Given the description of an element on the screen output the (x, y) to click on. 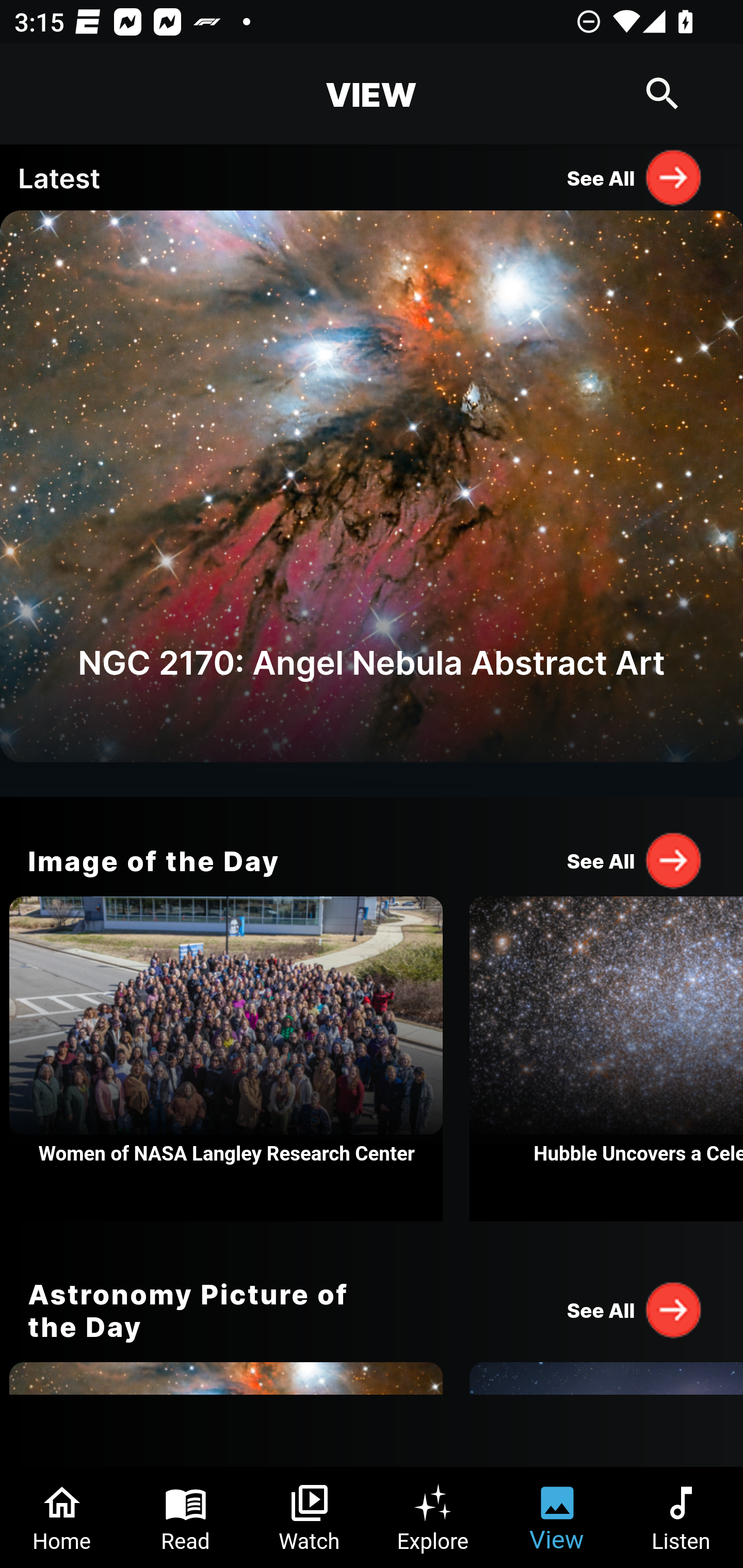
See All (634, 177)
NGC 2170: Angel Nebula Abstract Art
Hello World (371, 503)
See All (634, 860)
Women of NASA Langley Research Center (225, 1058)
Hubble Uncovers a Celestial Fossil (606, 1058)
See All (634, 1309)
Home
Tab 1 of 6 (62, 1517)
Read
Tab 2 of 6 (185, 1517)
Watch
Tab 3 of 6 (309, 1517)
Explore
Tab 4 of 6 (433, 1517)
View
Tab 5 of 6 (556, 1517)
Listen
Tab 6 of 6 (680, 1517)
